Given the description of an element on the screen output the (x, y) to click on. 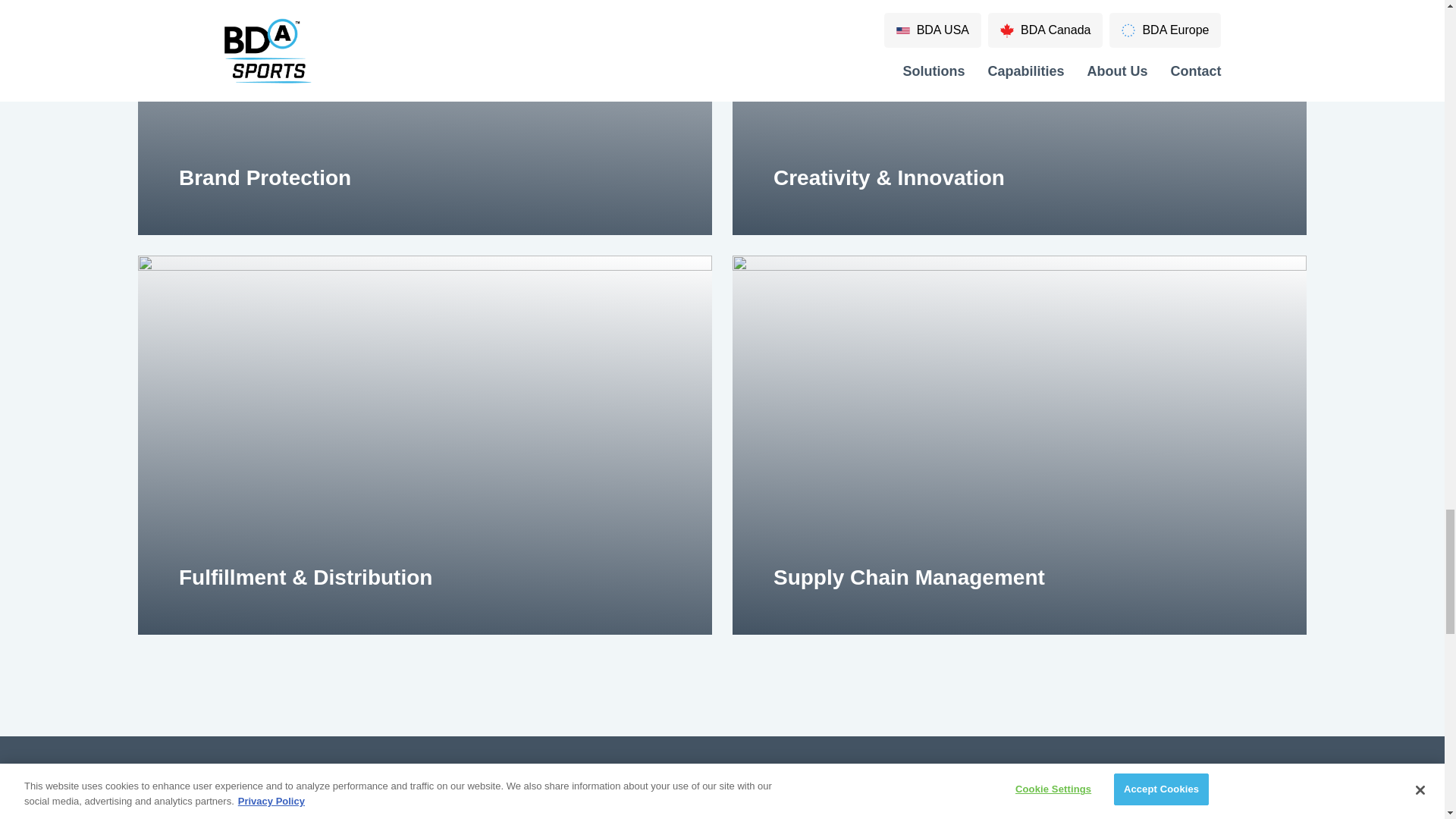
Supply Chain Management (1019, 577)
Brand Protection (425, 178)
